Given the description of an element on the screen output the (x, y) to click on. 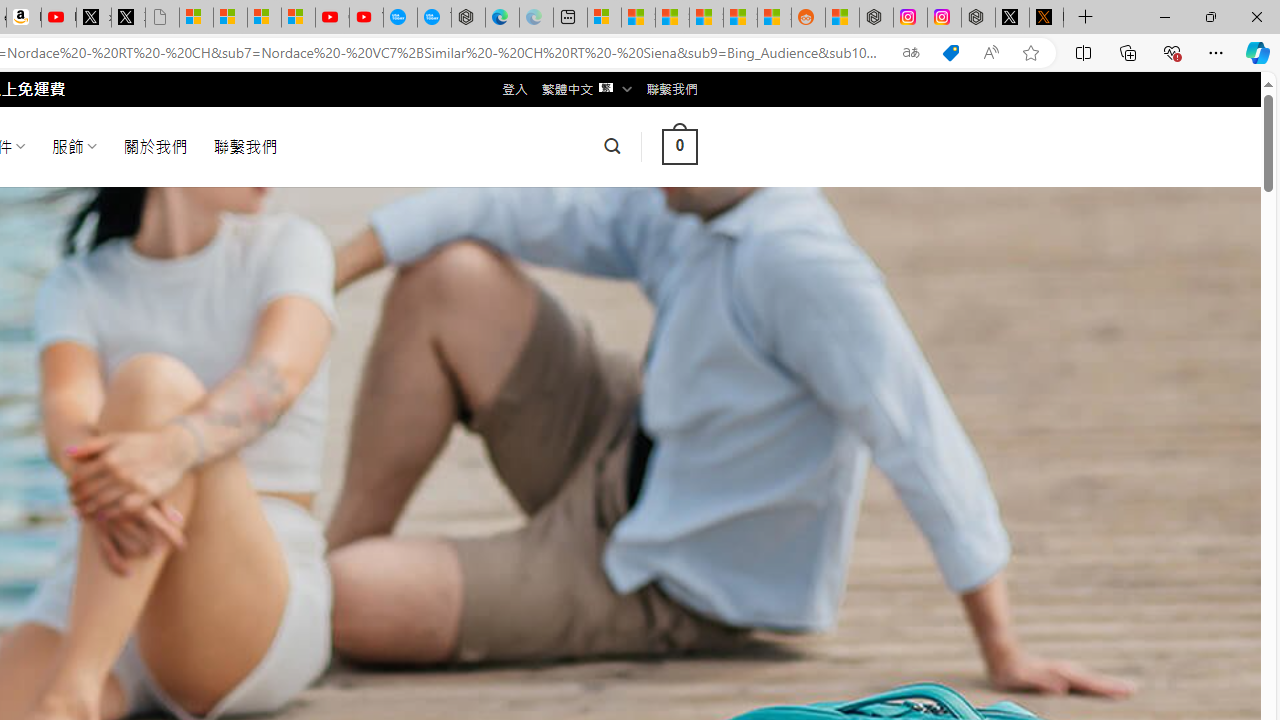
help.x.com | 524: A timeout occurred (1046, 17)
  0   (679, 146)
X (127, 17)
Shanghai, China Weather trends | Microsoft Weather (774, 17)
Microsoft account | Microsoft Account Privacy Settings (603, 17)
